Given the description of an element on the screen output the (x, y) to click on. 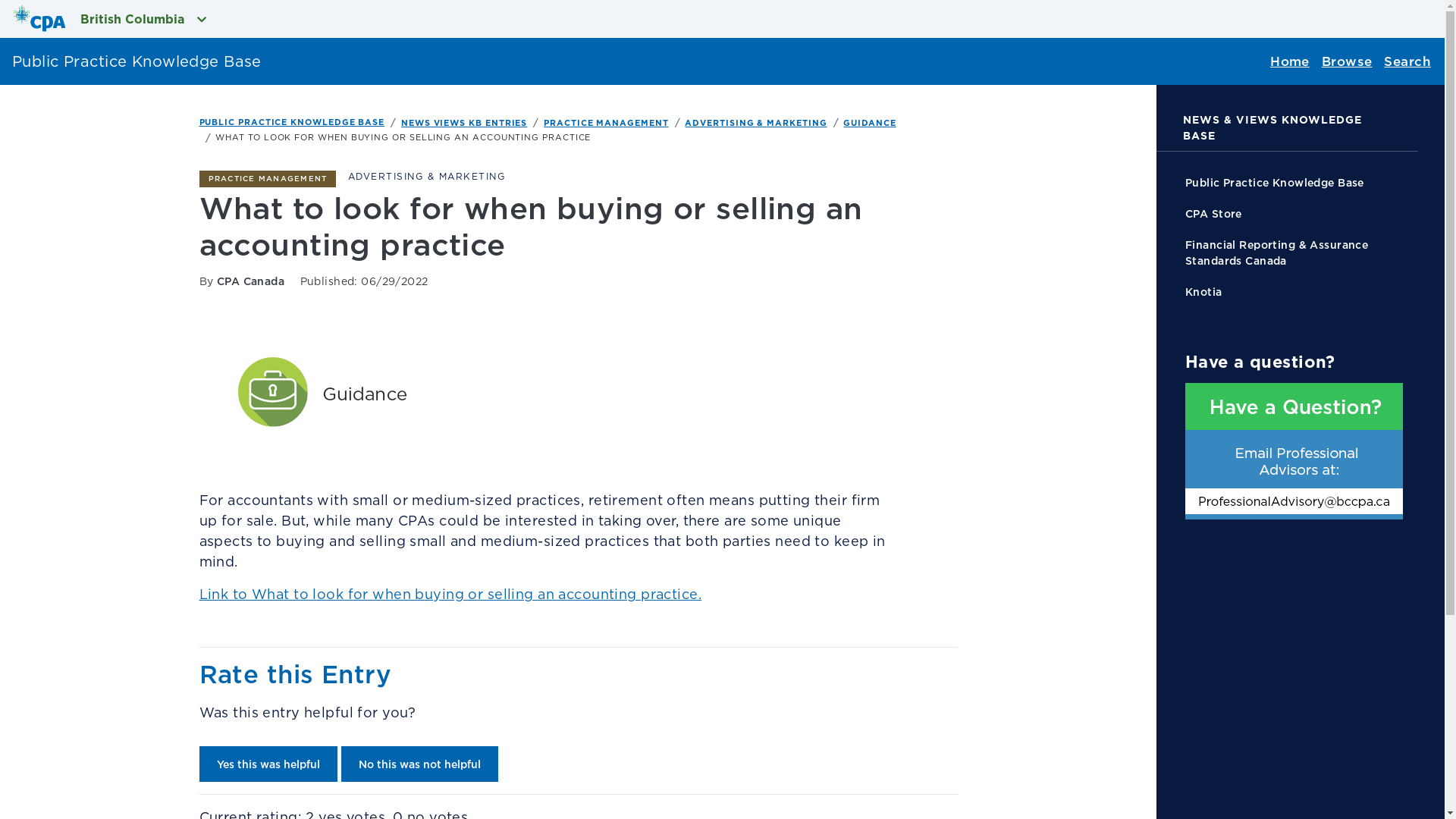
ADVERTISING & MARKETING Element type: text (755, 122)
PRACTICE MANAGEMENT Element type: text (605, 122)
No this was not helpful Element type: text (419, 763)
Public Practice Knowledge Base Element type: text (1293, 182)
Browse Element type: text (1346, 61)
British Columbia Element type: text (103, 18)
NEWS VIEWS KB ENTRIES Element type: text (464, 122)
PUBLIC PRACTICE KNOWLEDGE BASE Element type: text (291, 121)
CPA Store Element type: text (1293, 213)
ADVERTISING & MARKETING Element type: text (426, 176)
Financial Reporting & Assurance Standards Canada Element type: text (1293, 252)
Have a question? Element type: hover (1293, 450)
PRACTICE MANAGEMENT Element type: text (266, 178)
Knotia Element type: text (1293, 291)
Home Element type: text (1289, 61)
GUIDANCE Element type: text (869, 122)
Public Practice Knowledge Base Element type: text (130, 60)
Yes this was helpful Element type: text (267, 763)
Search Element type: text (1407, 61)
